Given the description of an element on the screen output the (x, y) to click on. 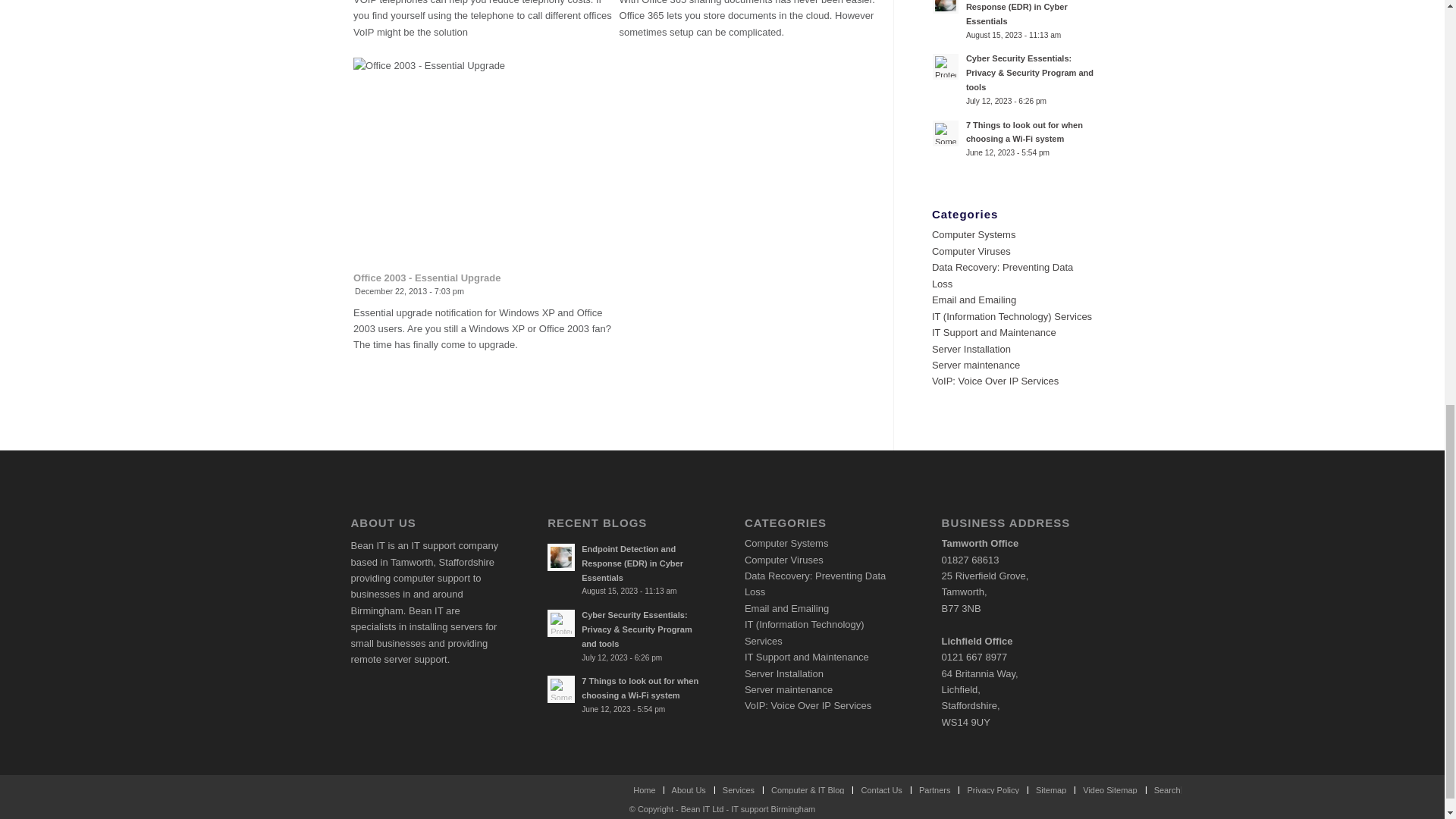
Office 2003 - Essential Upgrade (426, 277)
